Given the description of an element on the screen output the (x, y) to click on. 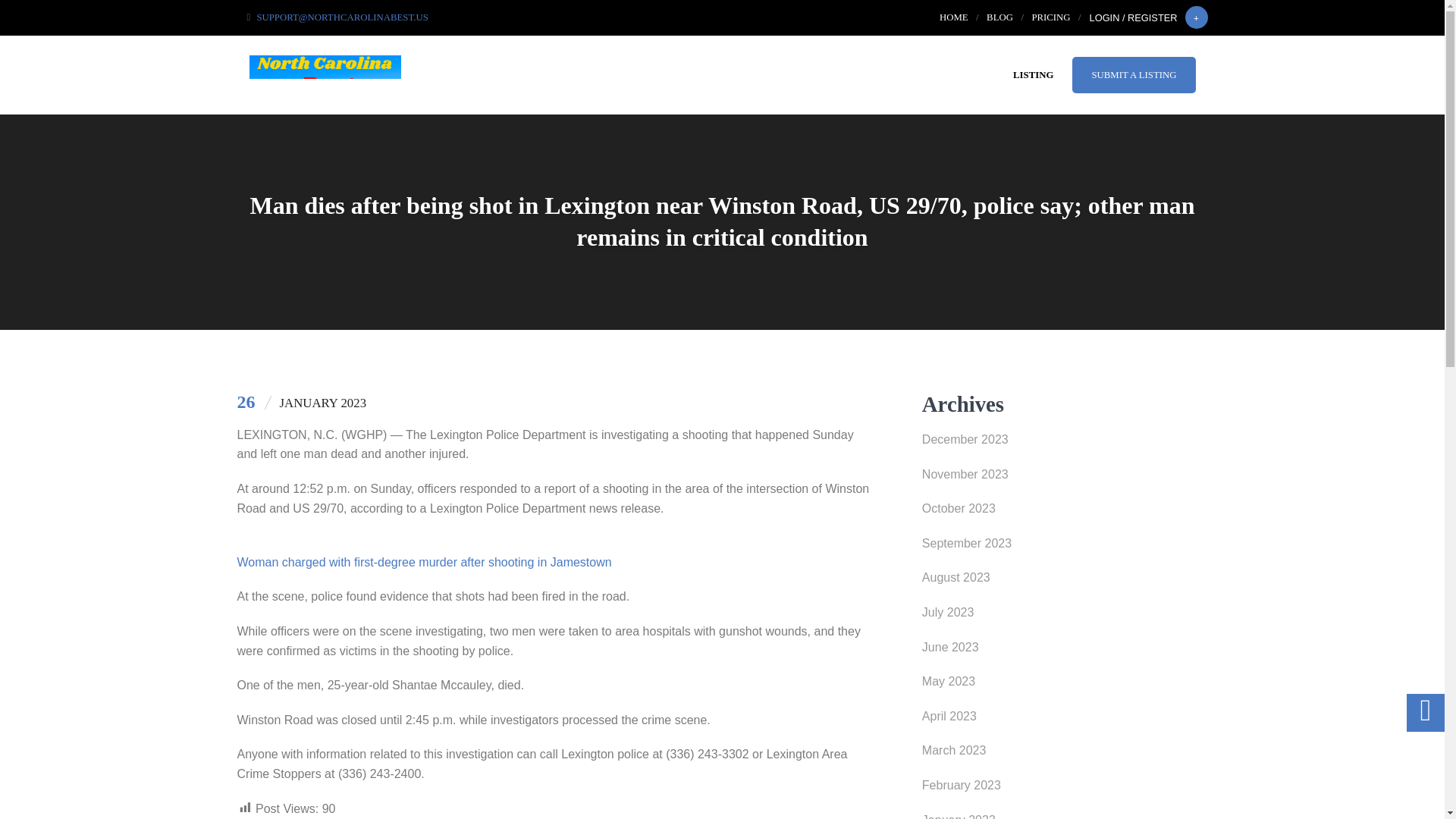
April 2023 (1064, 719)
June 2023 (1064, 651)
July 2023 (1064, 615)
January 2023 (1064, 814)
May 2023 (1064, 685)
March 2023 (1064, 754)
September 2023 (1064, 547)
October 2023 (1064, 512)
LISTING (1033, 74)
PRICING (1050, 17)
November 2023 (1064, 478)
December 2023 (1064, 443)
SUBMIT A LISTING (1133, 74)
August 2023 (1064, 581)
